Given the description of an element on the screen output the (x, y) to click on. 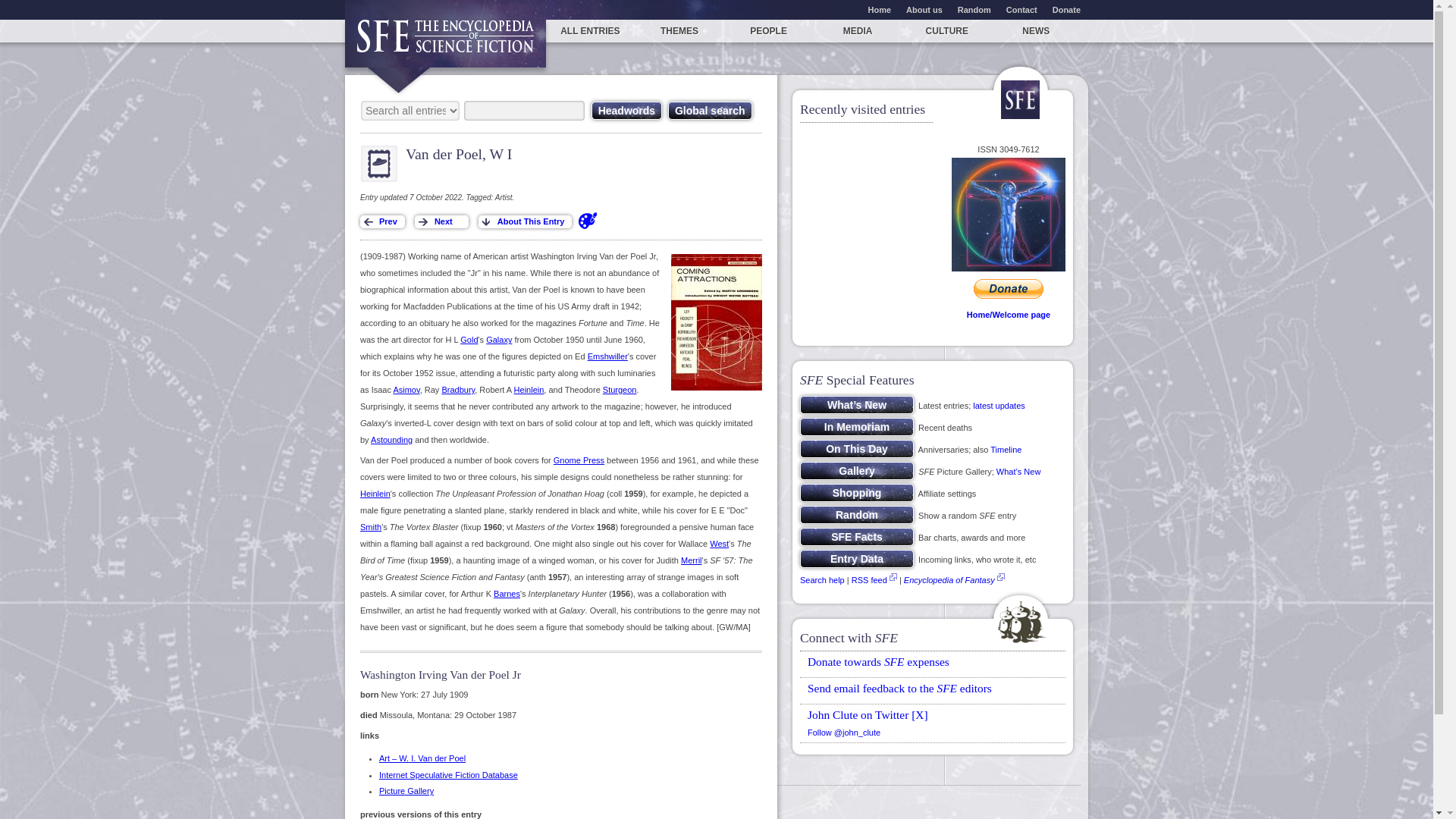
CULTURE (946, 30)
Home (879, 9)
About us (924, 9)
Home page (445, 43)
Barnes (506, 593)
Global search (710, 110)
Contact (1021, 9)
Astounding (391, 439)
Prev (381, 221)
latest updates (998, 405)
